Given the description of an element on the screen output the (x, y) to click on. 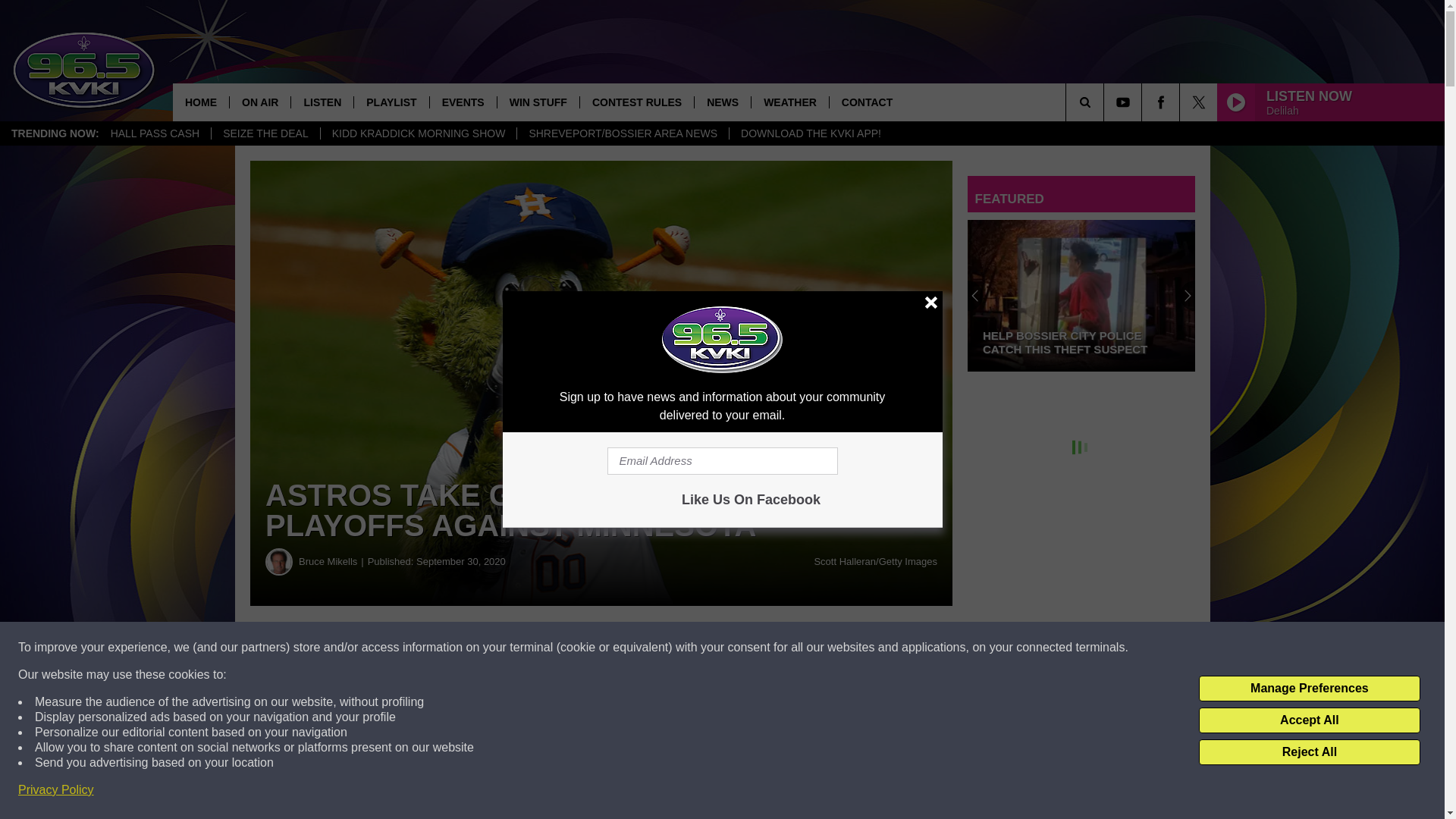
Share on Facebook (460, 647)
Share on Twitter (741, 647)
SEARCH (1106, 102)
Reject All (1309, 751)
LISTEN (321, 102)
CONTEST RULES (636, 102)
Email Address (722, 461)
Manage Preferences (1309, 688)
HOME (200, 102)
HALL PASS CASH (155, 133)
KIDD KRADDICK MORNING SHOW (418, 133)
SEIZE THE DEAL (265, 133)
EVENTS (462, 102)
SEARCH (1106, 102)
DOWNLOAD THE KVKI APP! (810, 133)
